Given the description of an element on the screen output the (x, y) to click on. 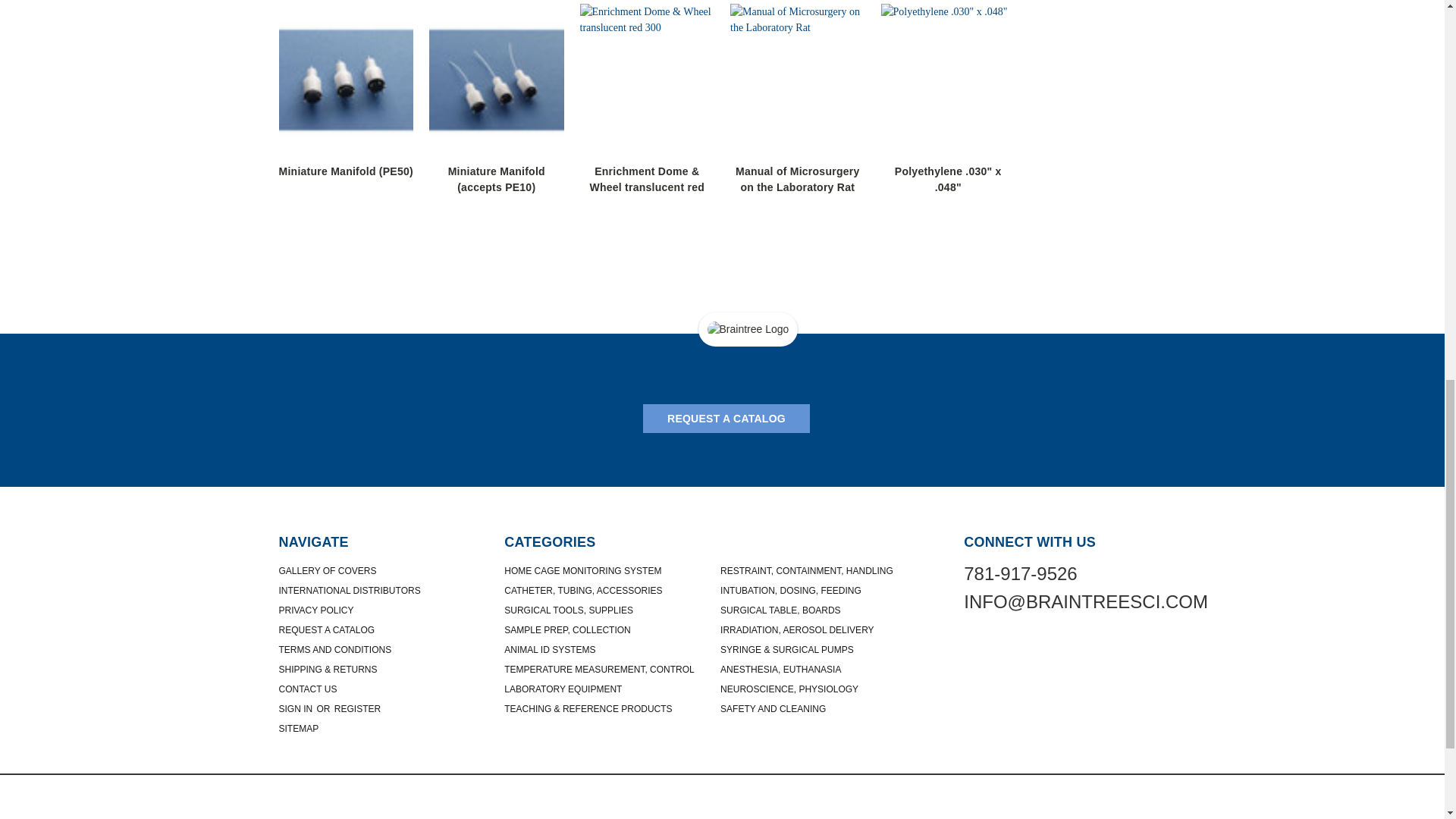
Manual of Microsurgery on the Laboratory Rat (797, 79)
Polyethylene .030" x .048" (948, 79)
